Given the description of an element on the screen output the (x, y) to click on. 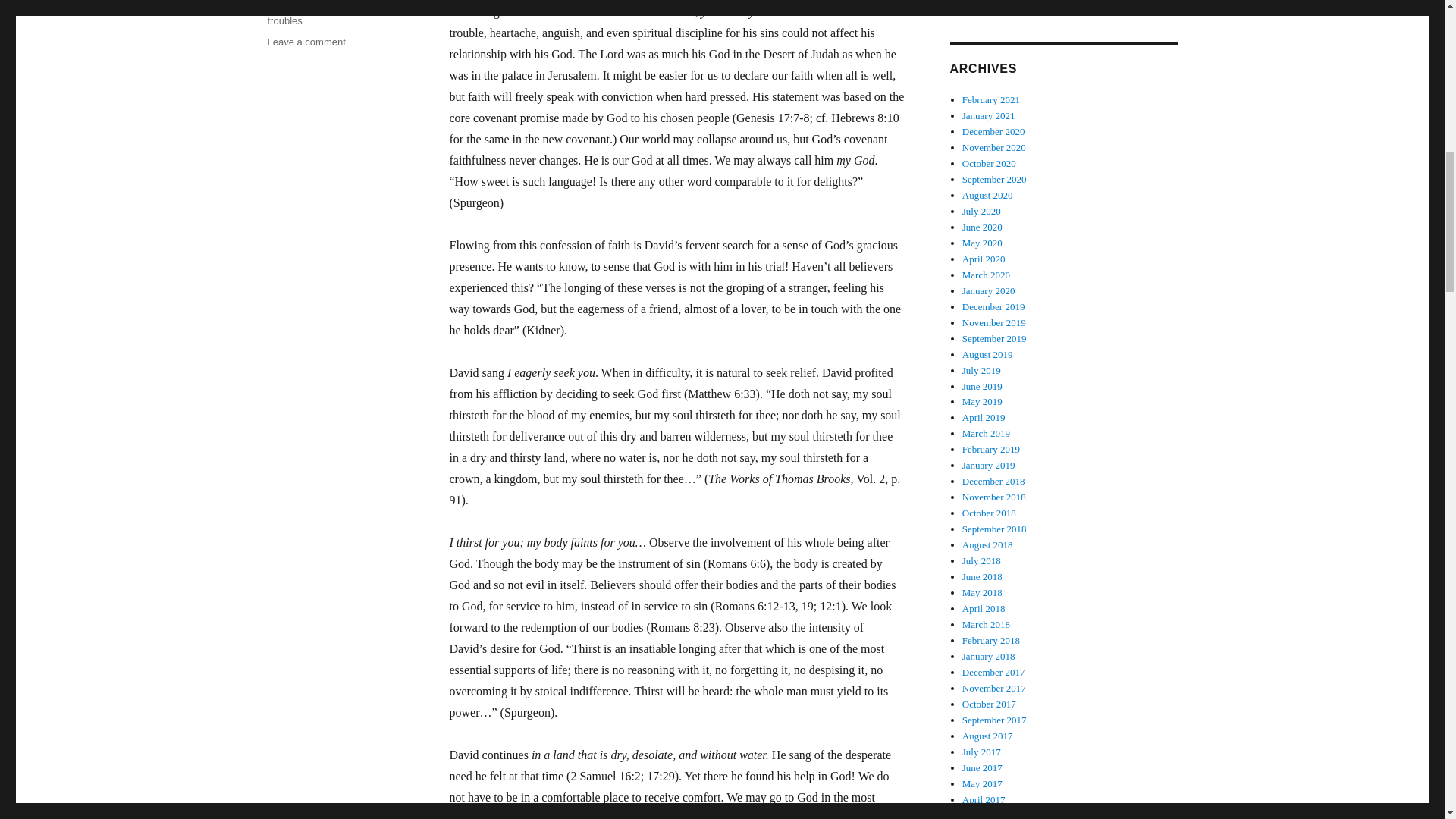
spiritual intensity (326, 5)
troubles (283, 20)
seeking God (325, 5)
